Given the description of an element on the screen output the (x, y) to click on. 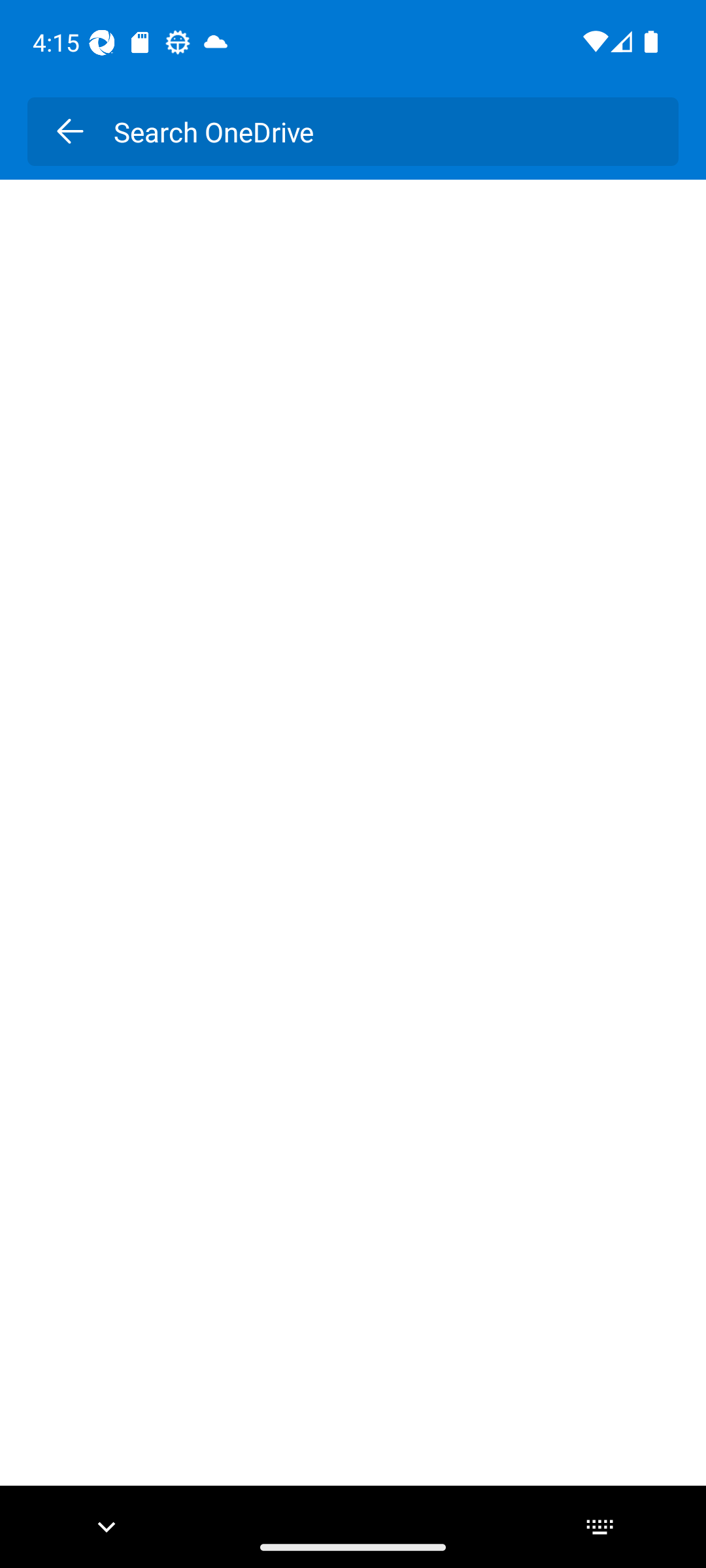
Navigate Up (69, 131)
Search OneDrive (382, 131)
